Given the description of an element on the screen output the (x, y) to click on. 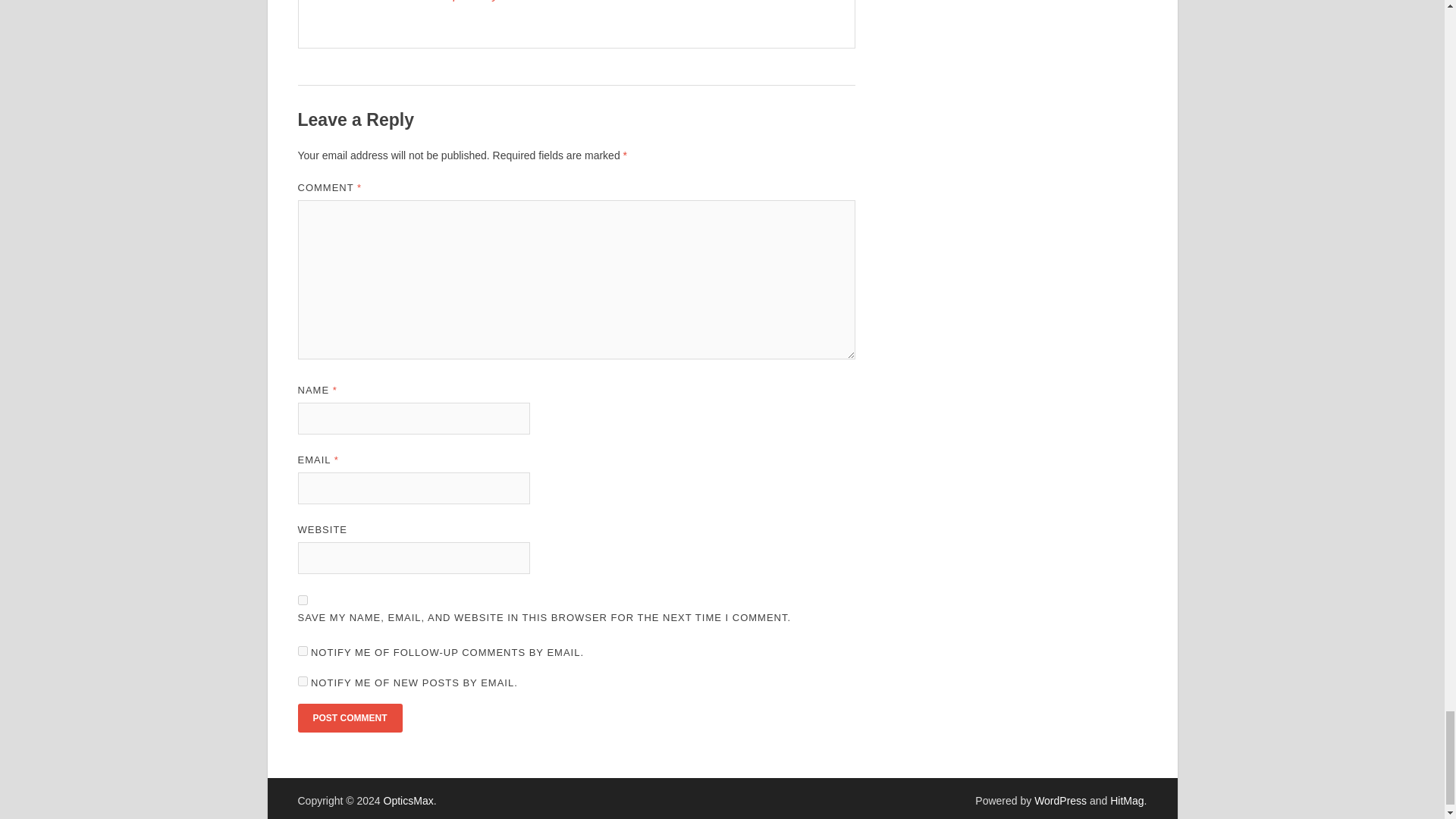
Post Comment (349, 717)
subscribe (302, 681)
subscribe (302, 651)
yes (302, 600)
